Given the description of an element on the screen output the (x, y) to click on. 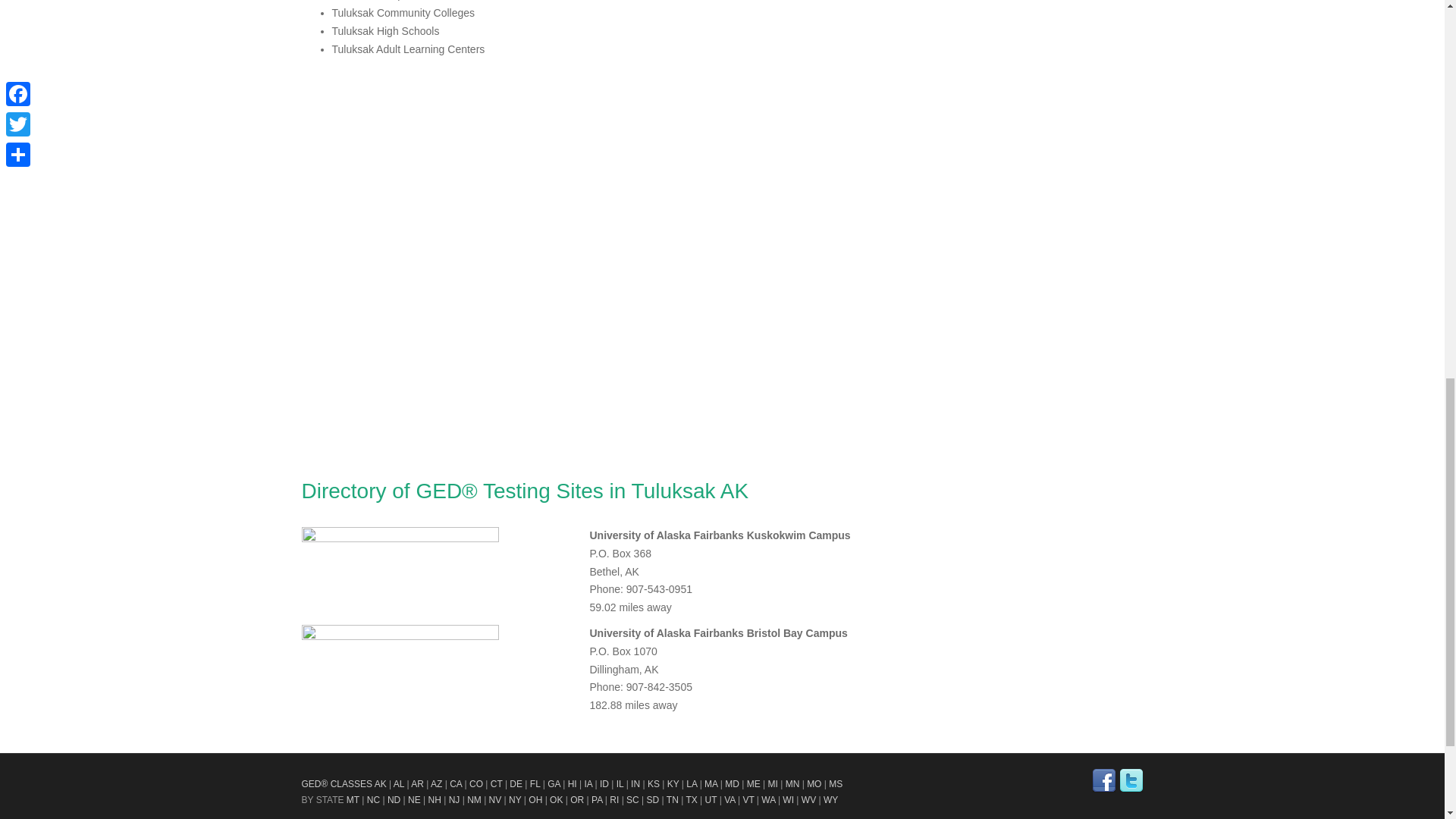
MO (813, 783)
CT (496, 783)
CA (455, 783)
Cited Twitter Page (1130, 781)
KS (653, 783)
AZ (436, 783)
CO (475, 783)
MA (710, 783)
Advertisement (415, 363)
NJ (454, 799)
